Given the description of an element on the screen output the (x, y) to click on. 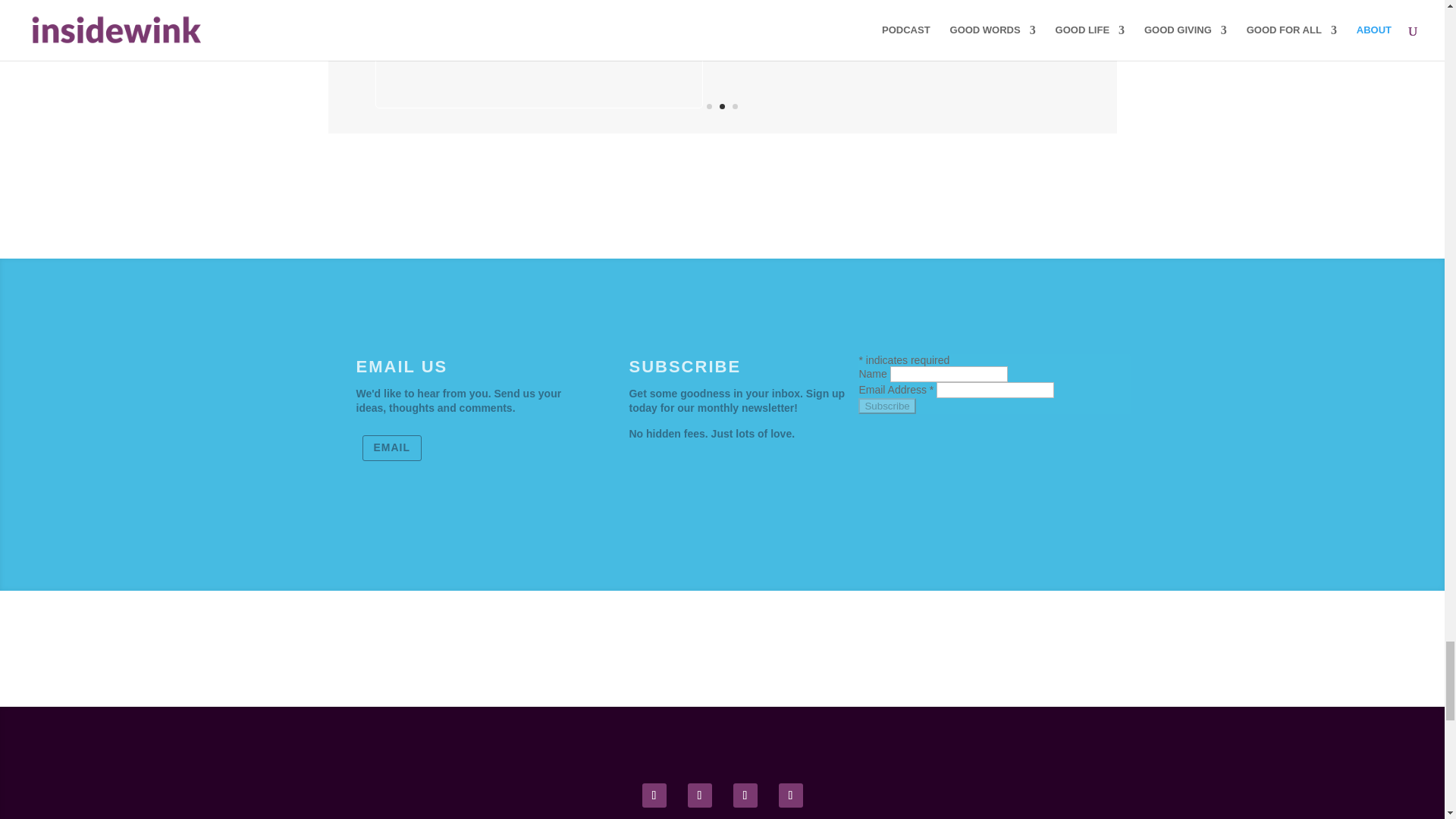
Subscribe (887, 406)
